Given the description of an element on the screen output the (x, y) to click on. 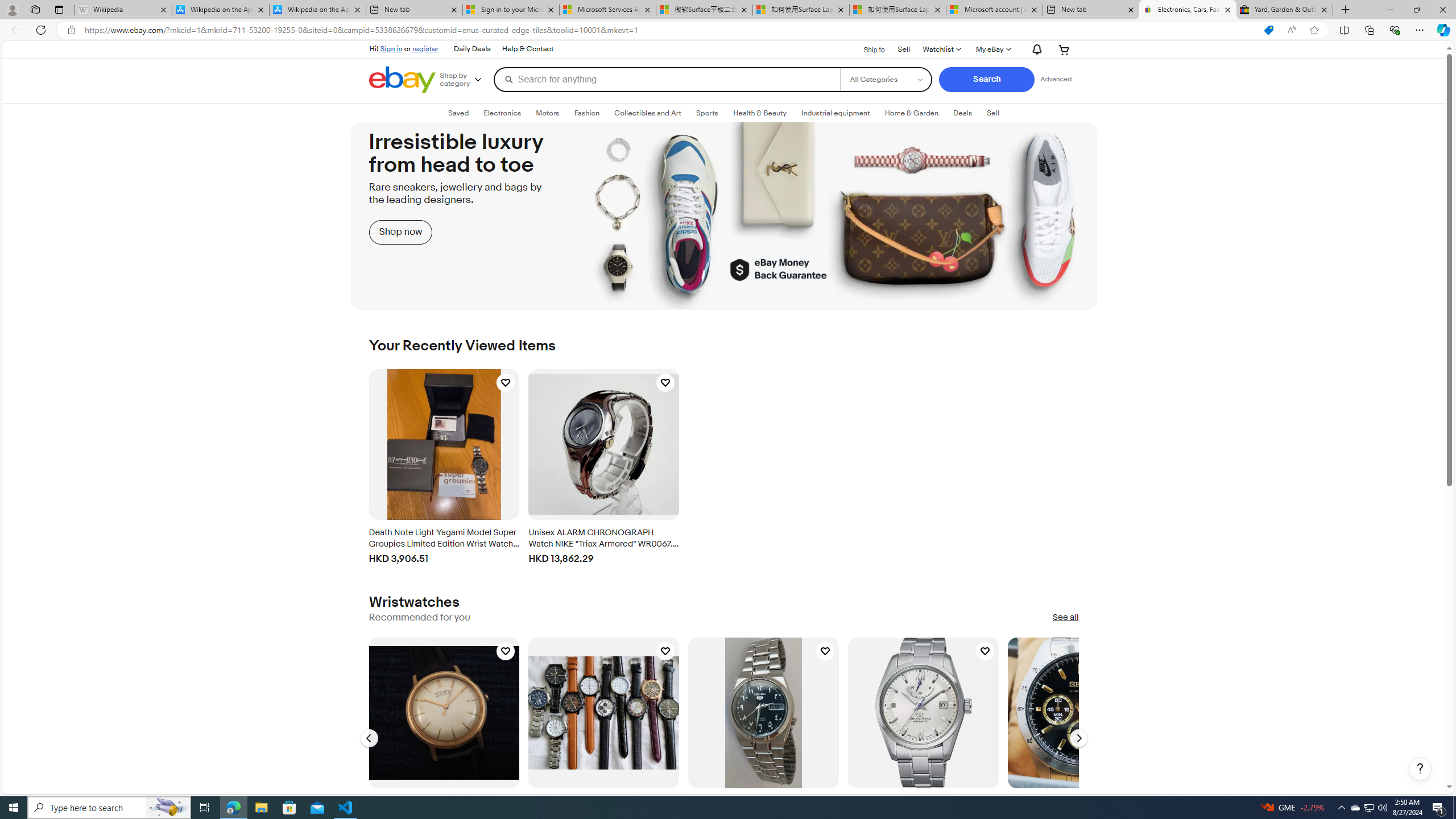
Expand Cart (1064, 49)
Saved (458, 112)
Industrial equipment (835, 112)
Motors (547, 112)
register (425, 48)
Electronics, Cars, Fashion, Collectibles & More | eBay (1187, 9)
Help, opens dialogs (1420, 768)
SellExpand: Sell (992, 112)
Select a category for search (885, 78)
